Given the description of an element on the screen output the (x, y) to click on. 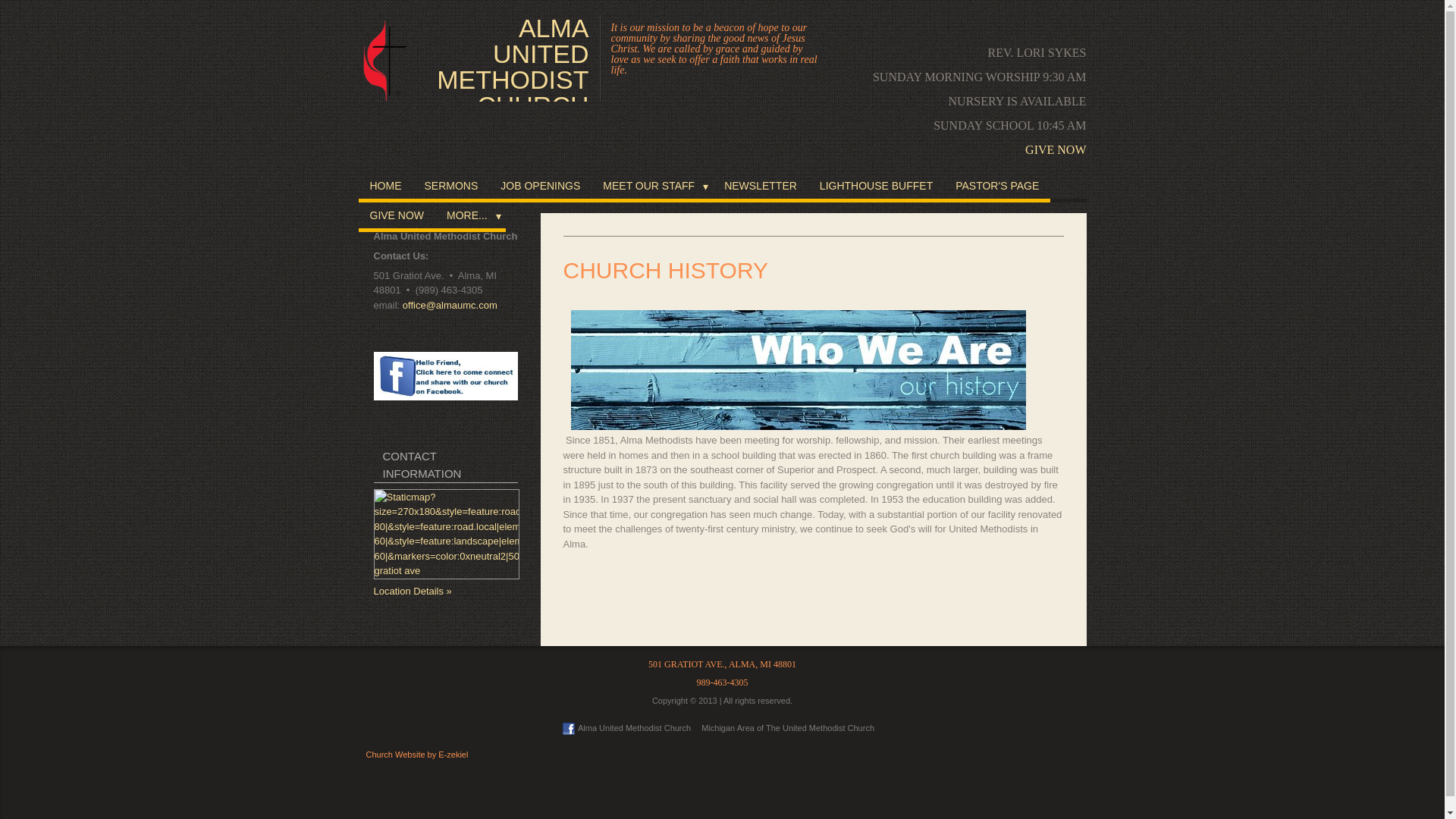
Church Website by E-zekiel (416, 754)
LIGHTHOUSE BUFFET (875, 187)
MORE... (470, 216)
JOB OPENINGS (540, 187)
GIVE NOW (396, 216)
ALMA UNITED METHODIST CHURCH (510, 58)
GIVE NOW (1055, 149)
MEET OUR STAFF (652, 187)
Michigan Area of The United Methodist Church (788, 727)
HOME (385, 187)
SERMONS (450, 187)
Alma United Methodist Church (624, 727)
PASTOR'S PAGE (996, 187)
NEWSLETTER (760, 187)
